Given the description of an element on the screen output the (x, y) to click on. 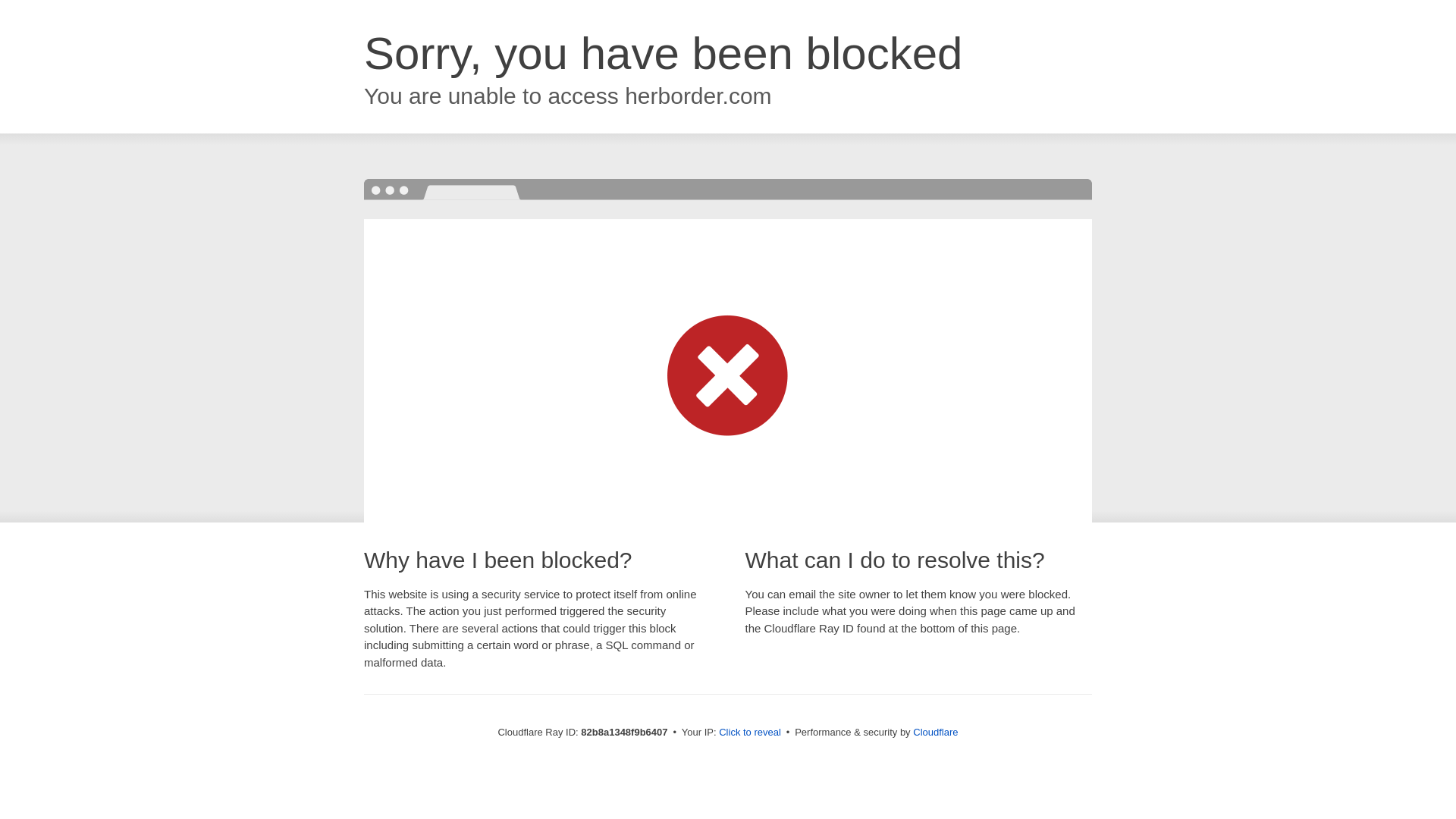
Click to reveal Element type: text (749, 732)
Cloudflare Element type: text (935, 731)
